Given the description of an element on the screen output the (x, y) to click on. 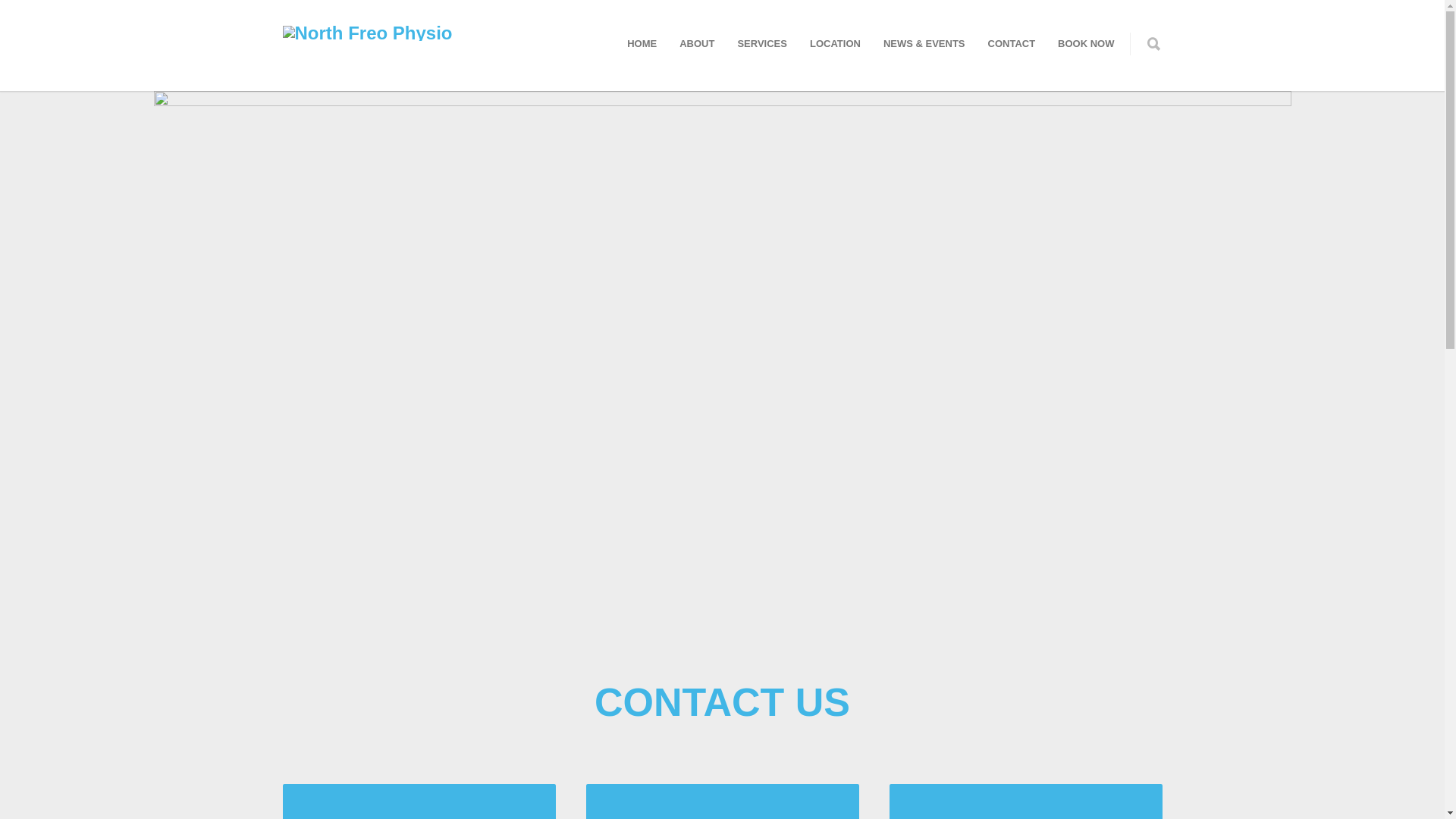
SERVICES Element type: text (761, 43)
HOME Element type: text (641, 43)
NEWS & EVENTS Element type: text (924, 43)
LOCATION Element type: text (835, 43)
ABOUT Element type: text (696, 43)
CONTACT Element type: text (1011, 43)
BOOK NOW Element type: text (1085, 43)
